Given the description of an element on the screen output the (x, y) to click on. 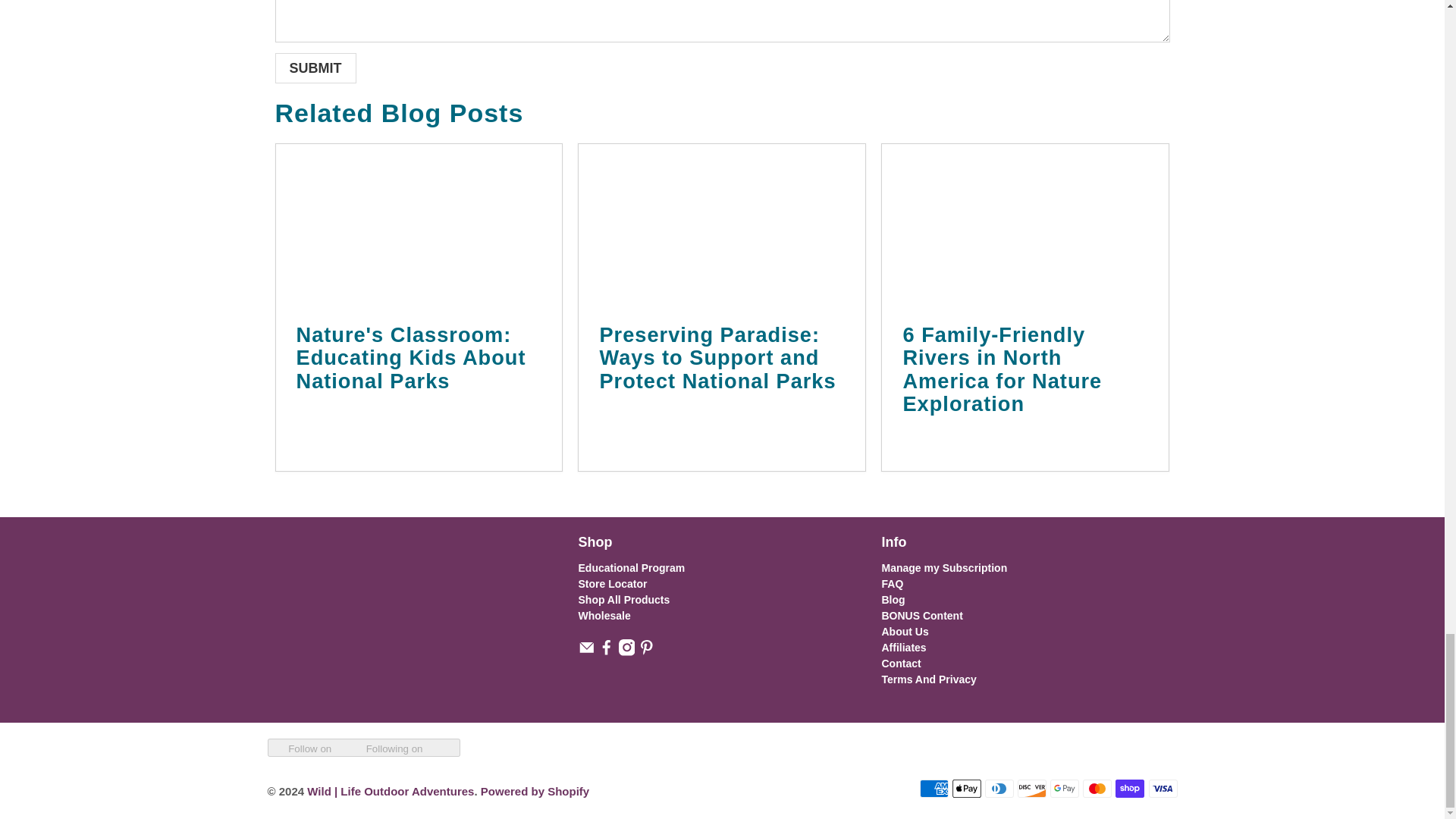
Mastercard (1097, 788)
Diners Club (999, 788)
American Express (934, 788)
Discover (1031, 788)
Nature's Classroom: Educating Kids About National Parks (419, 223)
Nature's Classroom: Educating Kids About National Parks (410, 357)
Shop Pay (1129, 788)
Submit (315, 68)
Apple Pay (966, 788)
Google Pay (1063, 788)
